Given the description of an element on the screen output the (x, y) to click on. 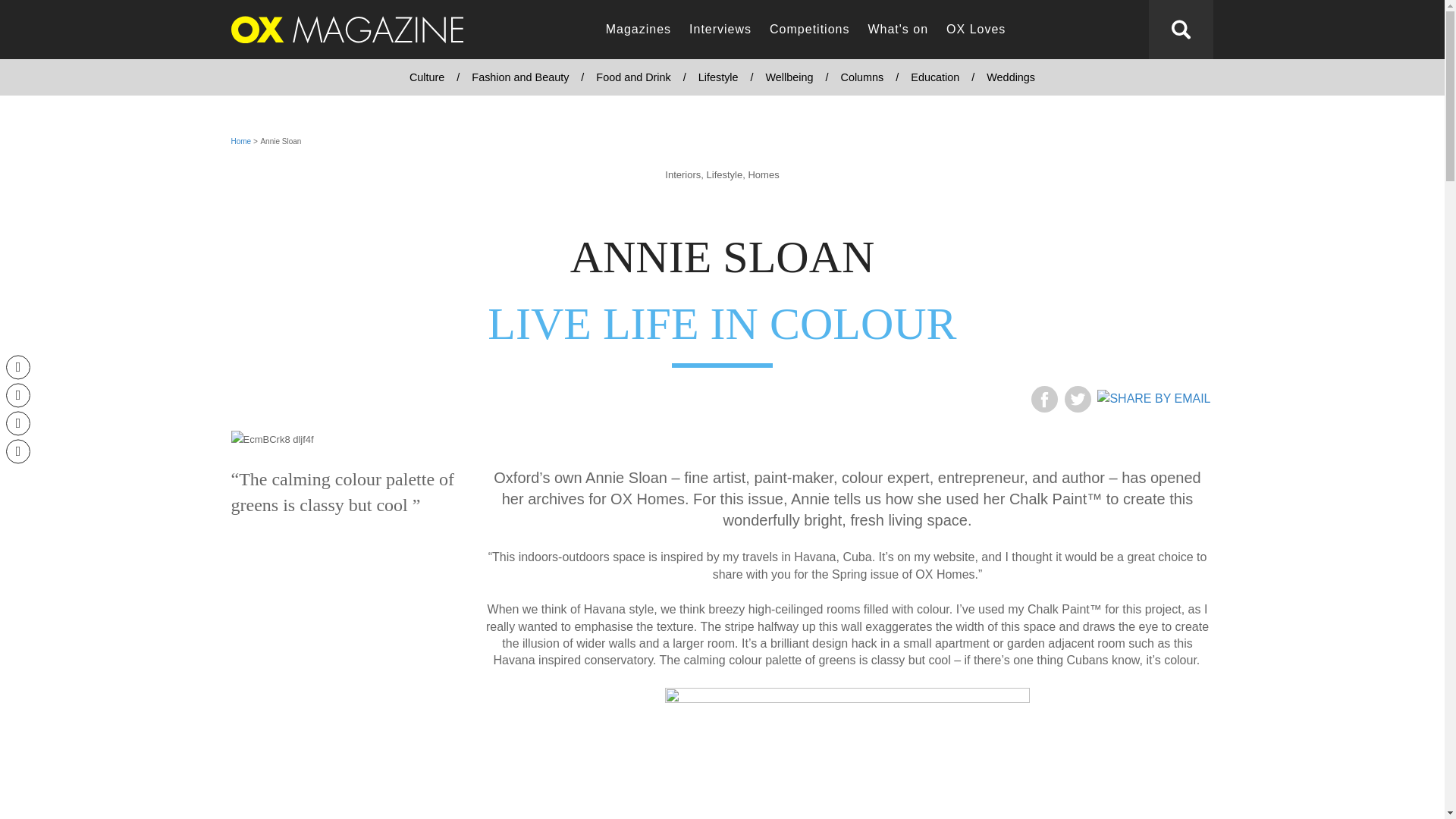
Fashion and Beauty (520, 77)
Competitions (809, 29)
Weddings (1010, 77)
Columns (861, 77)
Magazines (637, 29)
Lifestyle (718, 77)
Food and Drink (632, 77)
Interviews (719, 29)
OX Loves (975, 29)
Wellbeing (789, 77)
